Given the description of an element on the screen output the (x, y) to click on. 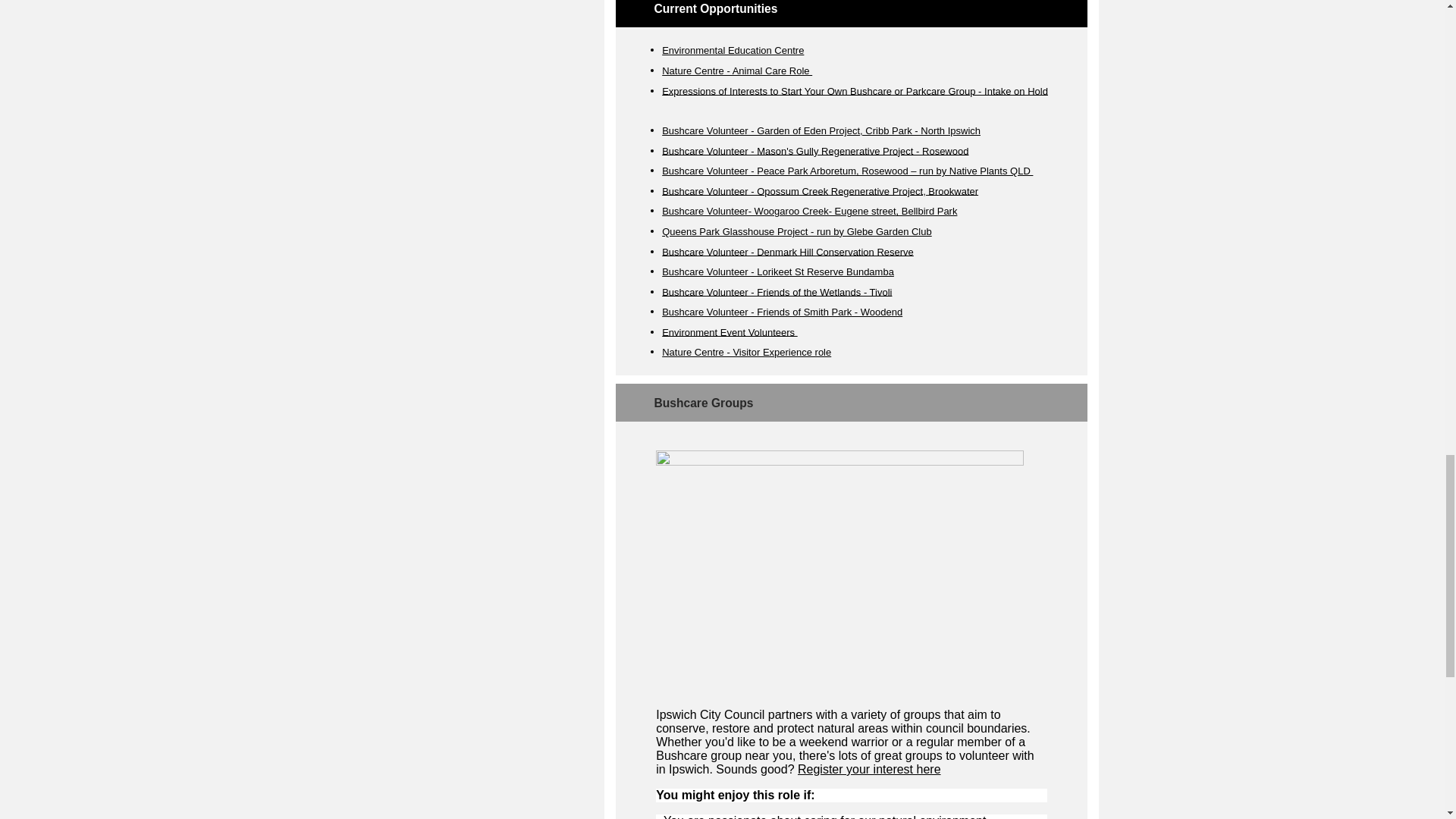
Description for Nature Centre - Animal Care Role  (818, 68)
Description for Environmental Education Centre (812, 47)
Description for Nature Centre - Visitor Experience role (839, 349)
Description for Environment Event Volunteers  (803, 329)
